Given the description of an element on the screen output the (x, y) to click on. 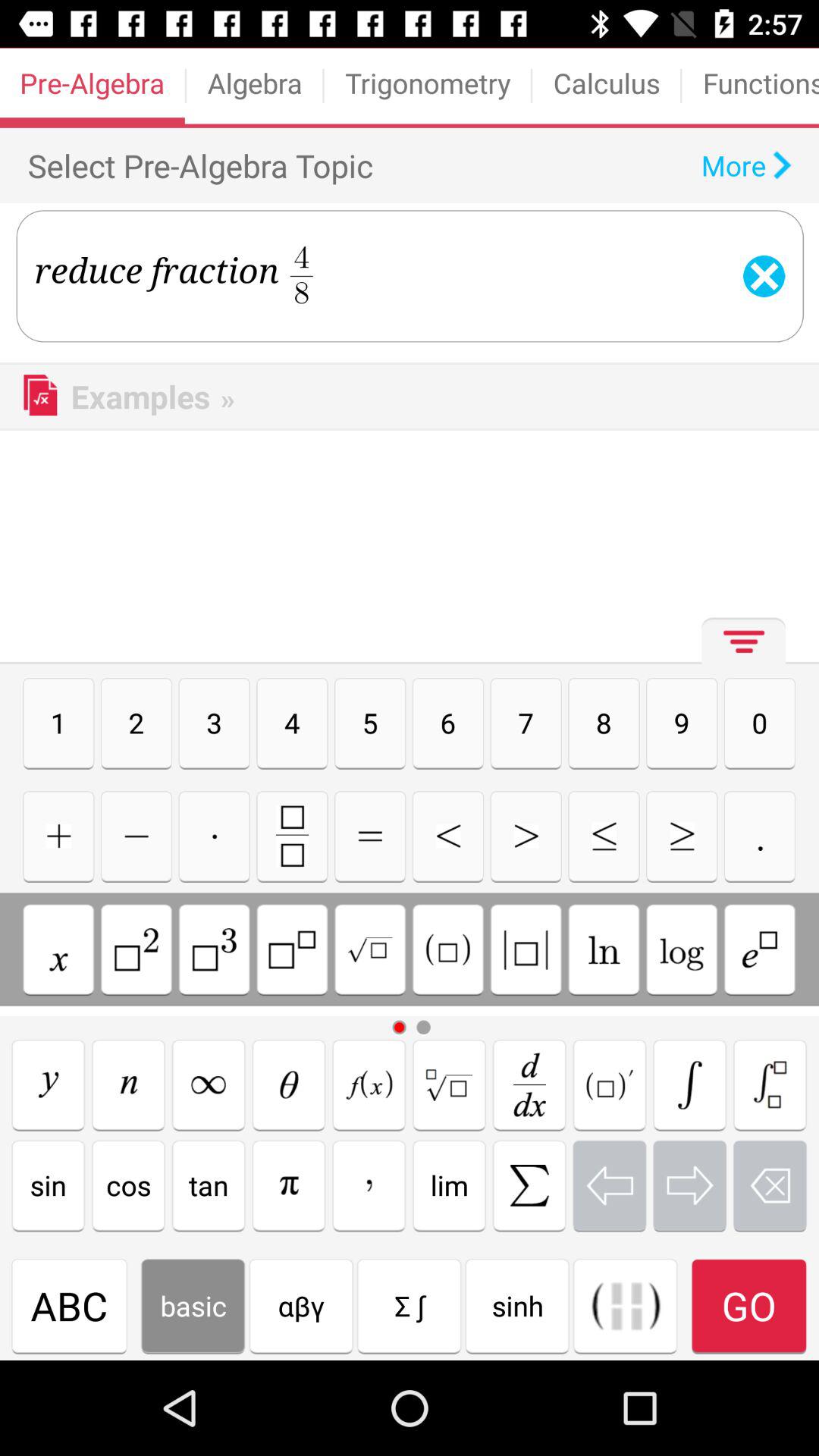
select option (128, 1084)
